Given the description of an element on the screen output the (x, y) to click on. 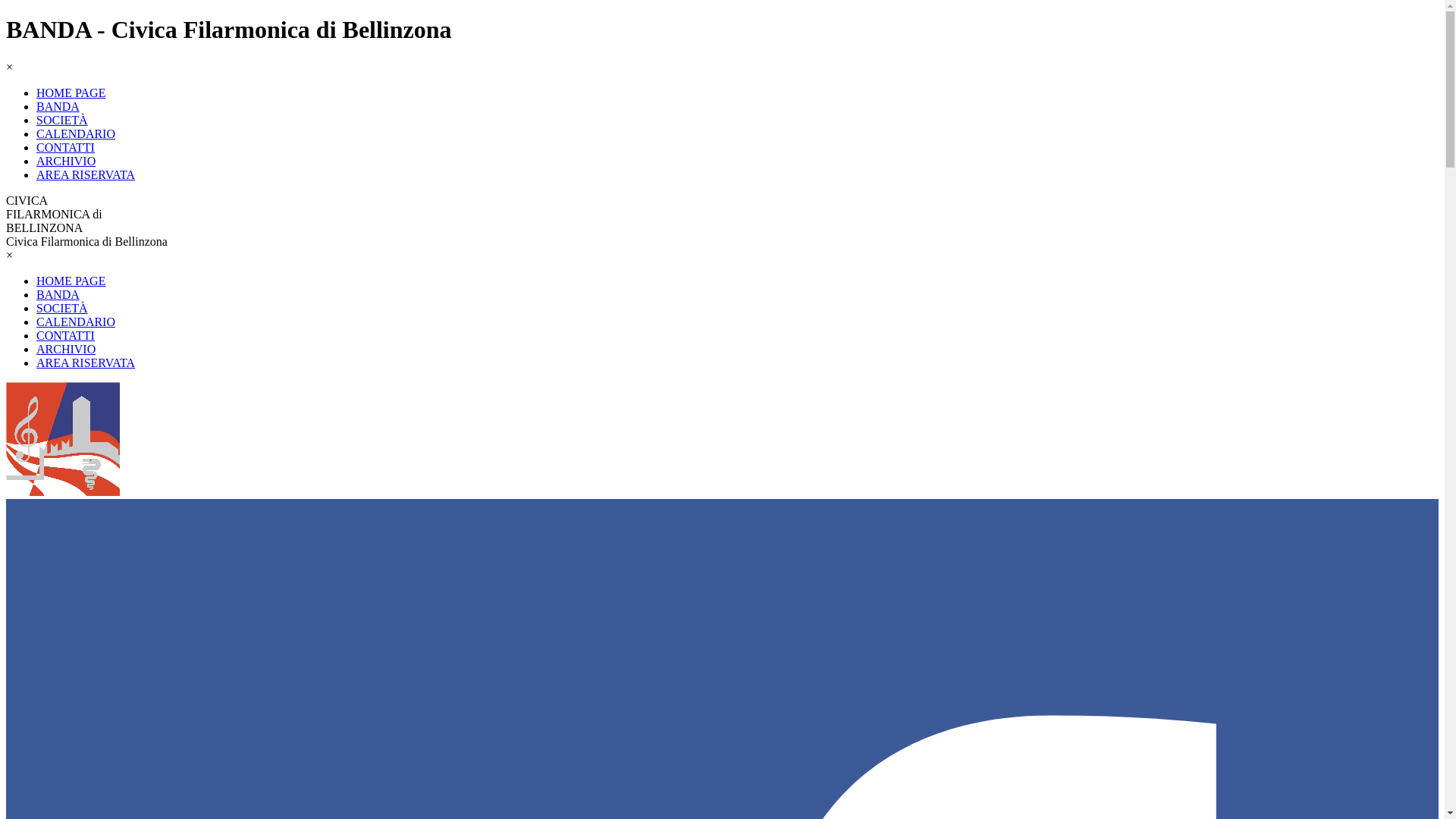
CALENDARIO Element type: text (75, 321)
BANDA Element type: text (57, 294)
ARCHIVIO Element type: text (65, 160)
CALENDARIO Element type: text (75, 133)
HOME PAGE Element type: text (70, 280)
AREA RISERVATA Element type: text (85, 174)
AREA RISERVATA Element type: text (85, 362)
CONTATTI Element type: text (65, 147)
BANDA Element type: text (57, 106)
CONTATTI Element type: text (65, 335)
ARCHIVIO Element type: text (65, 348)
HOME PAGE Element type: text (70, 92)
